Given the description of an element on the screen output the (x, y) to click on. 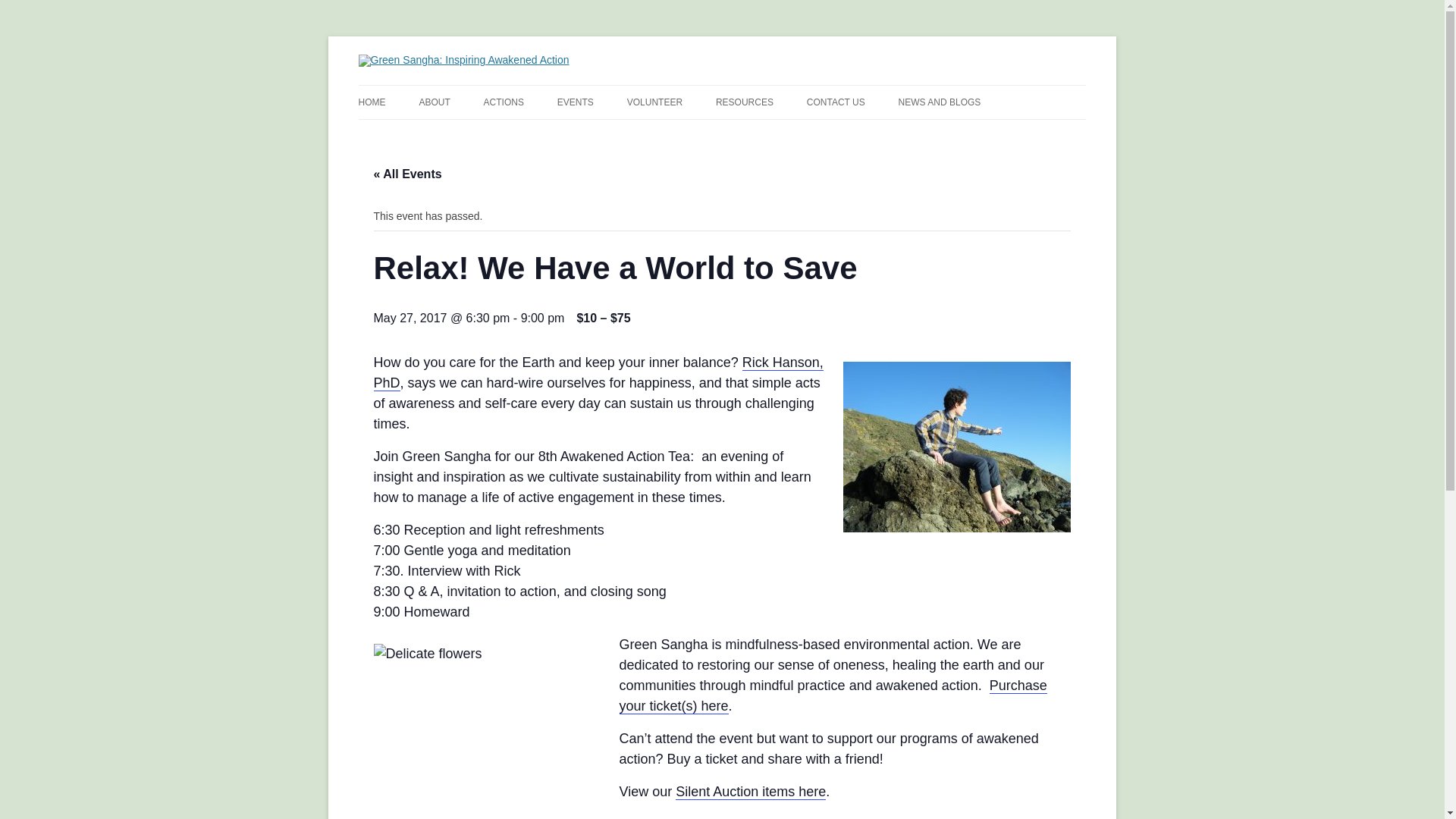
Silent Auction items here (750, 791)
NEWS AND BLOGS (939, 101)
REDUCE YOUR CARBON FOOTPRINT! (558, 143)
ABOUT GREEN SANGHA (494, 133)
RETHINKING PLASTICS NEWS (973, 133)
VOLUNTEER (654, 101)
EVENTS (575, 101)
VOLUNTEER OPPORTUNITIES (702, 133)
CONTACT US (835, 101)
USEFUL LINKS (791, 133)
ACTIONS (503, 101)
HOME (371, 101)
ABOUT (434, 101)
